Given the description of an element on the screen output the (x, y) to click on. 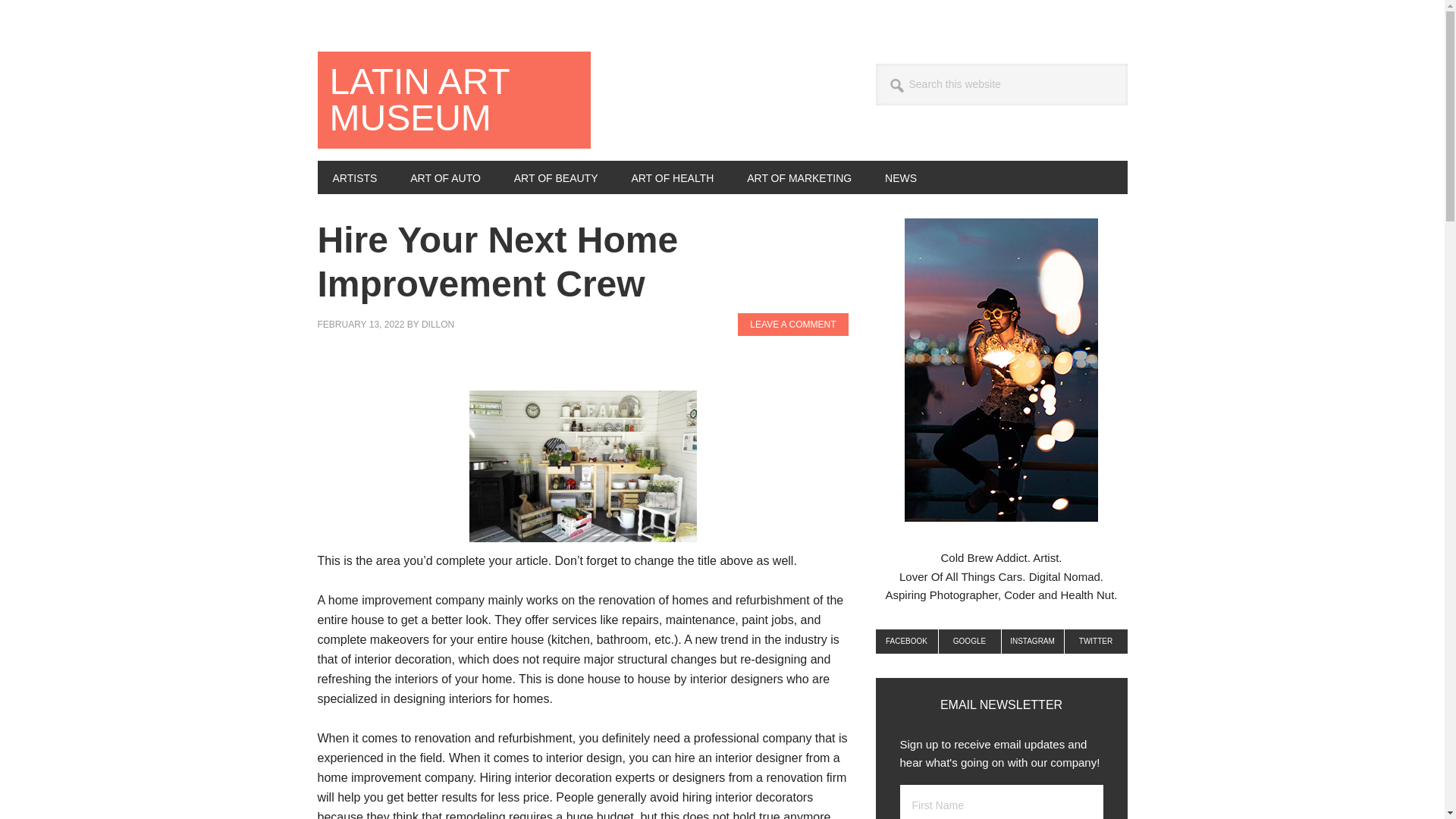
ART OF HEALTH (672, 177)
NEWS (900, 177)
TWITTER (1095, 641)
LEAVE A COMMENT (792, 323)
LATIN ART MUSEUM (453, 99)
ARTISTS (354, 177)
ART OF AUTO (445, 177)
ART OF MARKETING (799, 177)
DILLON (438, 324)
ART OF BEAUTY (555, 177)
FACEBOOK (906, 641)
GOOGLE (970, 641)
INSTAGRAM (1032, 641)
